Given the description of an element on the screen output the (x, y) to click on. 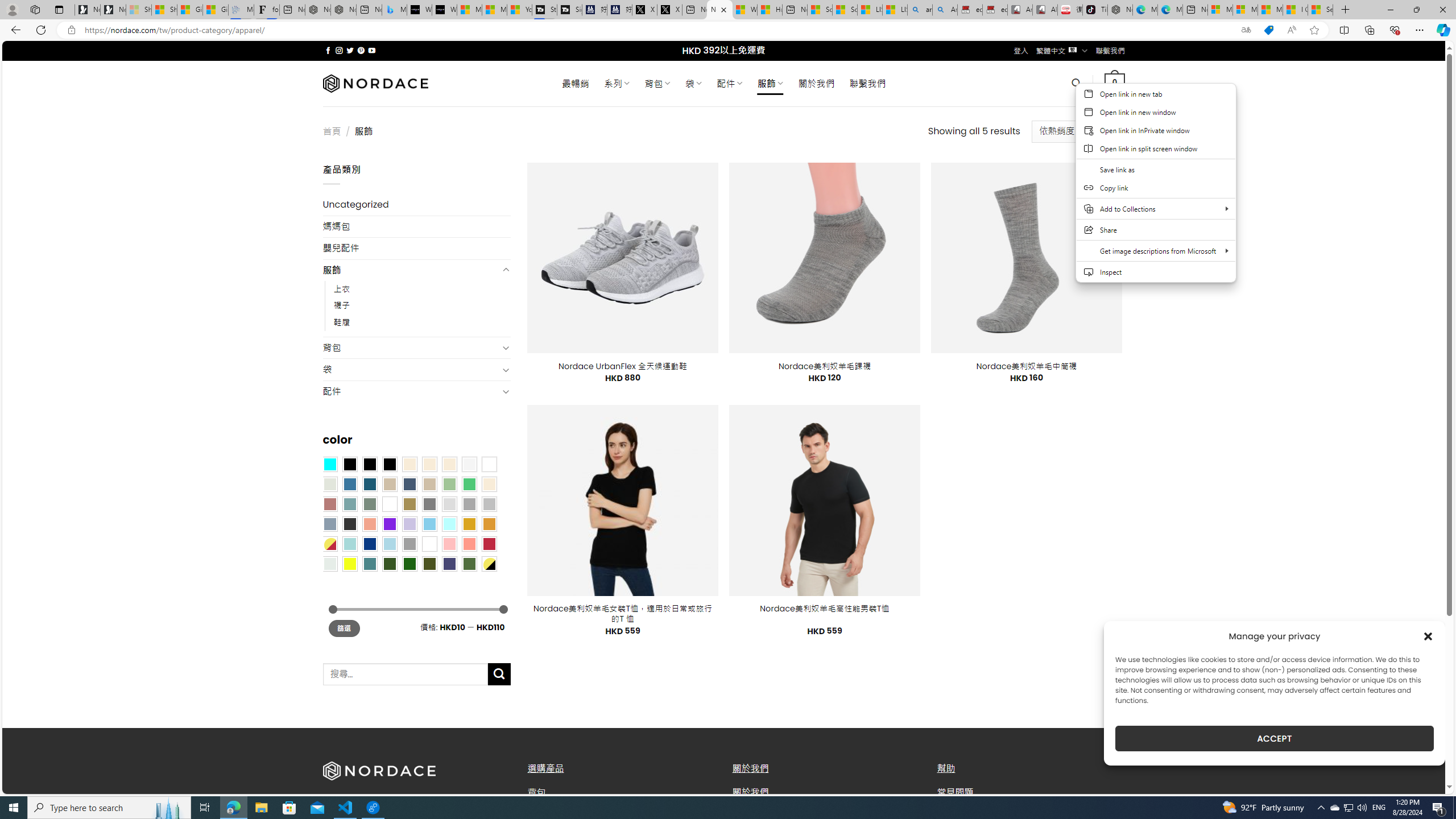
ACCEPT (1274, 738)
Follow on YouTube (371, 50)
Web context (1155, 189)
